Given the description of an element on the screen output the (x, y) to click on. 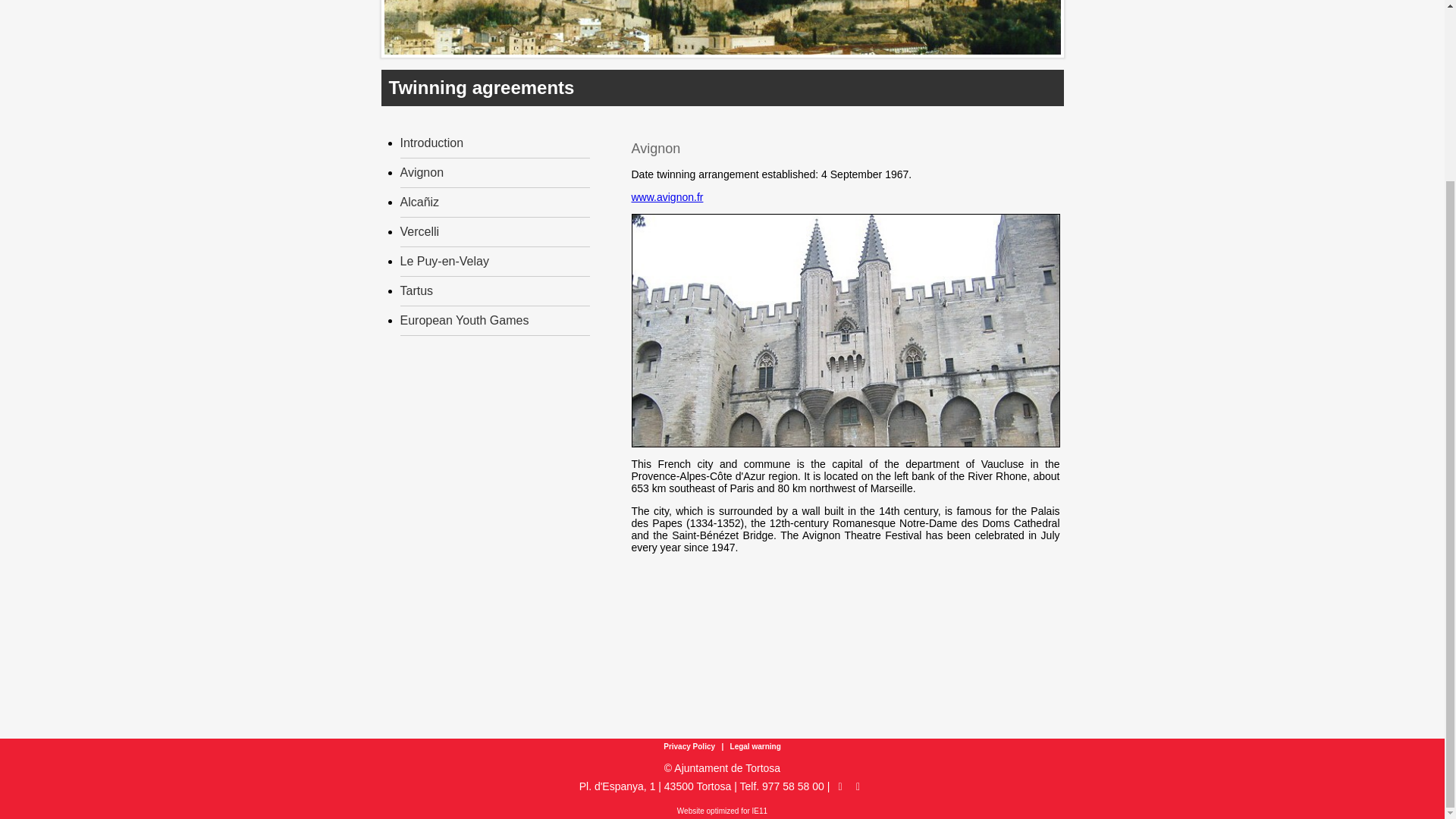
www.avignon.fr (666, 196)
European Youth Games (464, 319)
Privacy Policy (690, 746)
Tartus (416, 290)
Avignon (422, 172)
facebook (841, 786)
Vercelli (419, 231)
Introduction (432, 142)
Le Puy-en-Velay (444, 260)
twitter (858, 786)
Legal warning (754, 746)
